Given the description of an element on the screen output the (x, y) to click on. 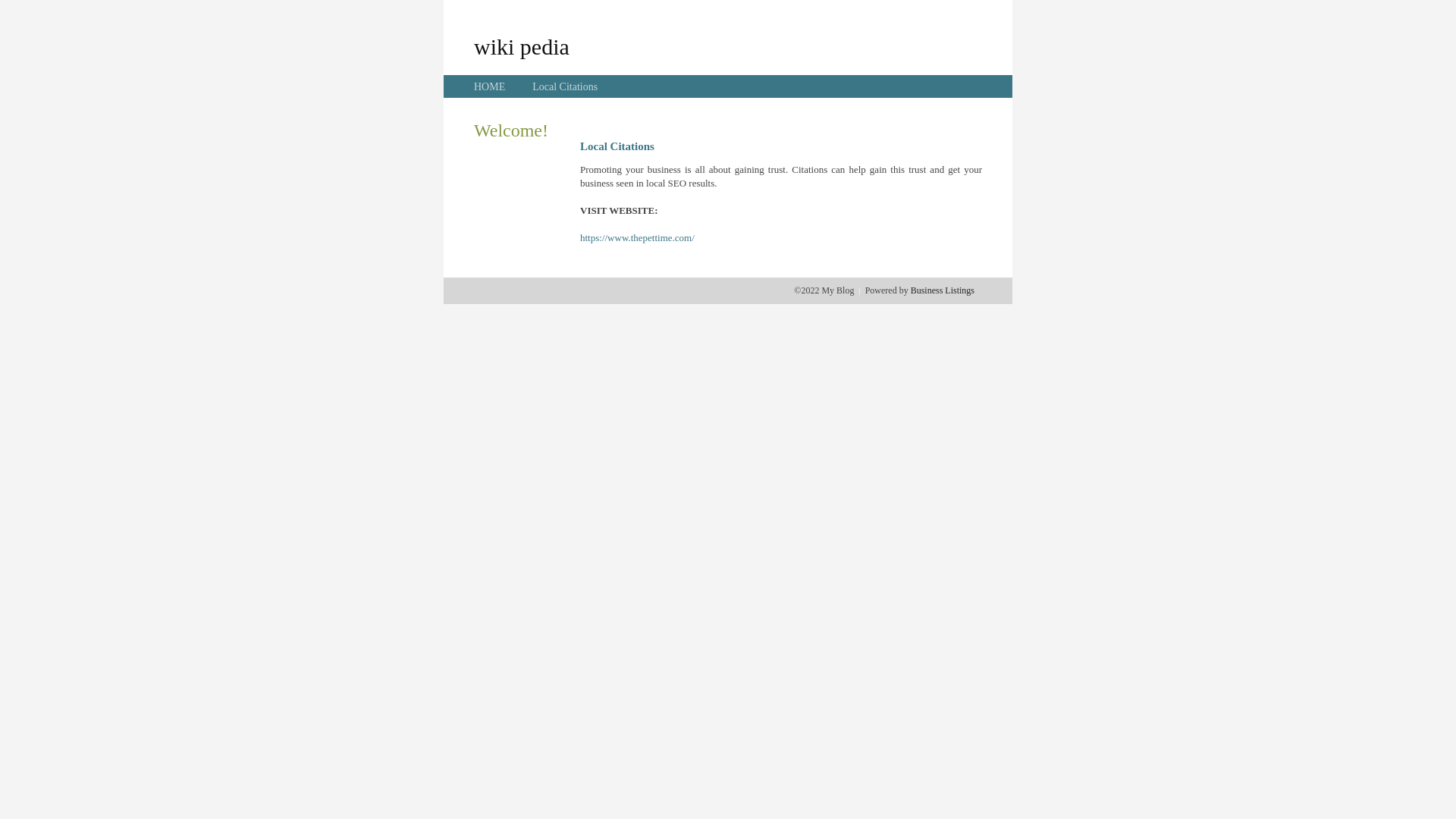
Local Citations Element type: text (564, 86)
HOME Element type: text (489, 86)
https://www.thepettime.com/ Element type: text (637, 237)
Business Listings Element type: text (942, 290)
wiki pedia Element type: text (521, 46)
